Given the description of an element on the screen output the (x, y) to click on. 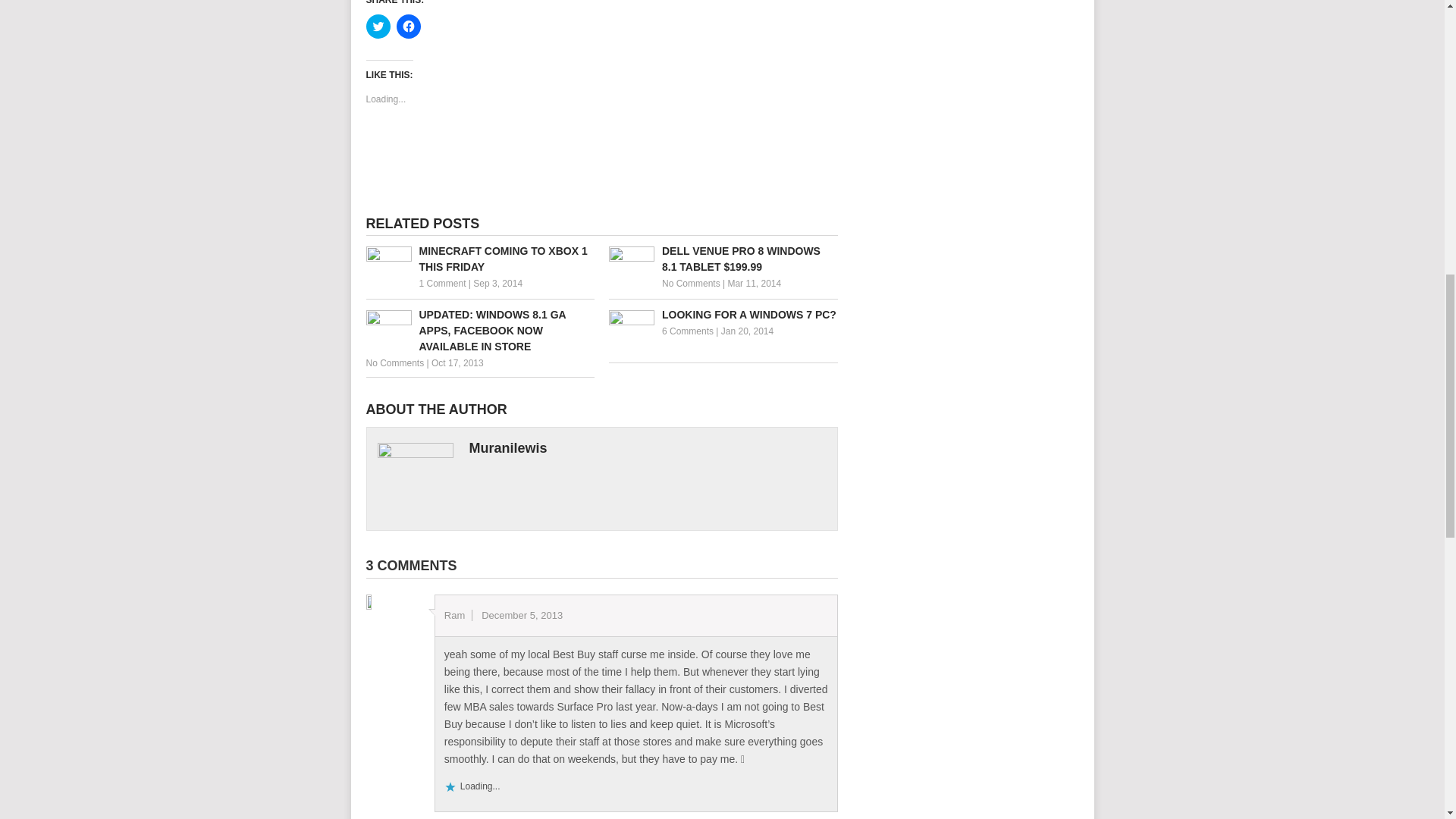
No Comments (394, 362)
Minecraft Coming to Xbox 1 This Friday (479, 259)
1 Comment (442, 283)
6 Comments (687, 330)
LOOKING FOR A WINDOWS 7 PC? (723, 314)
No Comments (691, 283)
Click to share on Twitter (377, 26)
MINECRAFT COMING TO XBOX 1 THIS FRIDAY (479, 259)
Click to share on Facebook (408, 26)
